Given the description of an element on the screen output the (x, y) to click on. 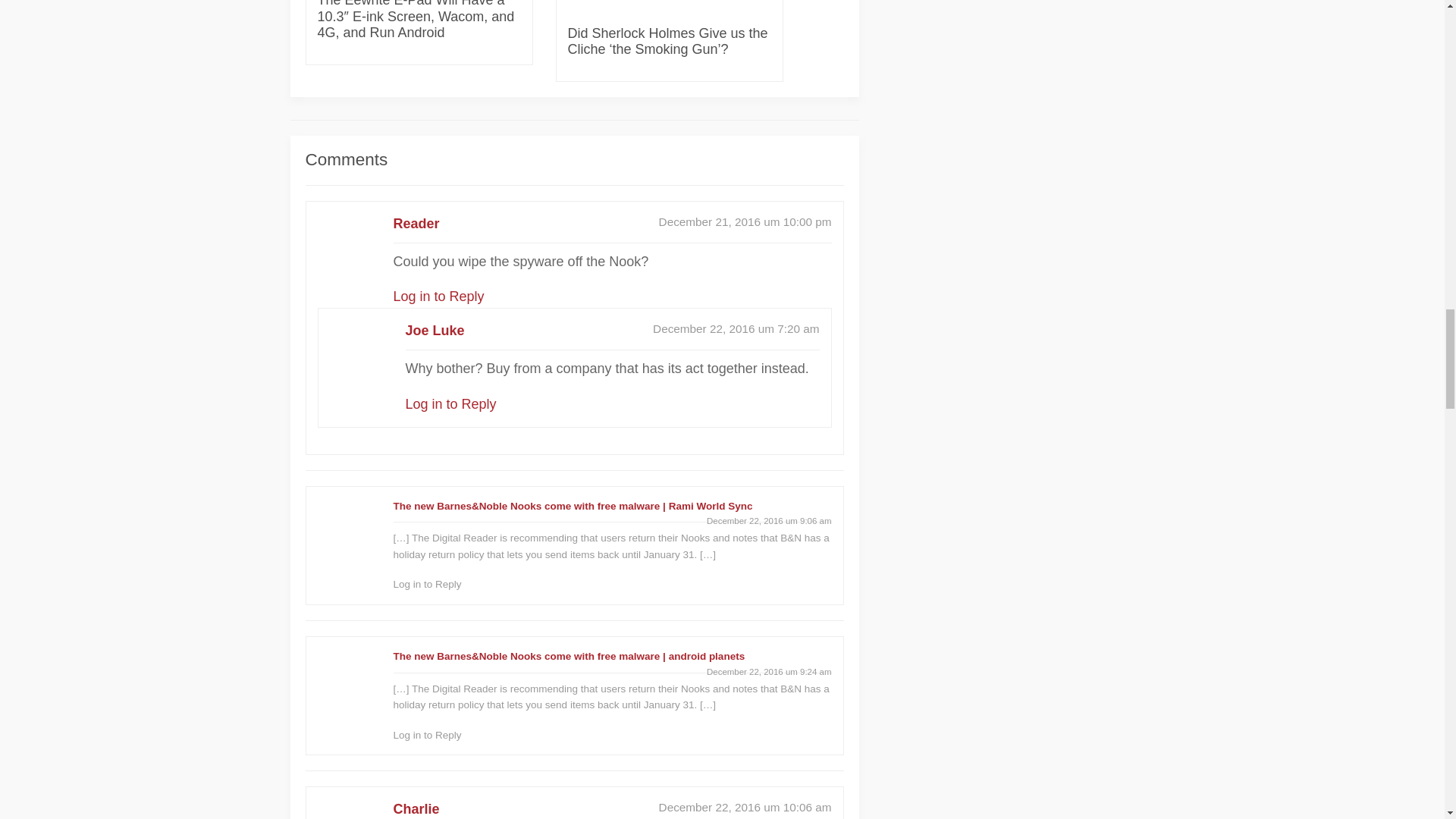
Log in to Reply (438, 296)
Log in to Reply (427, 735)
Log in to Reply (427, 583)
Log in to Reply (450, 403)
